Given the description of an element on the screen output the (x, y) to click on. 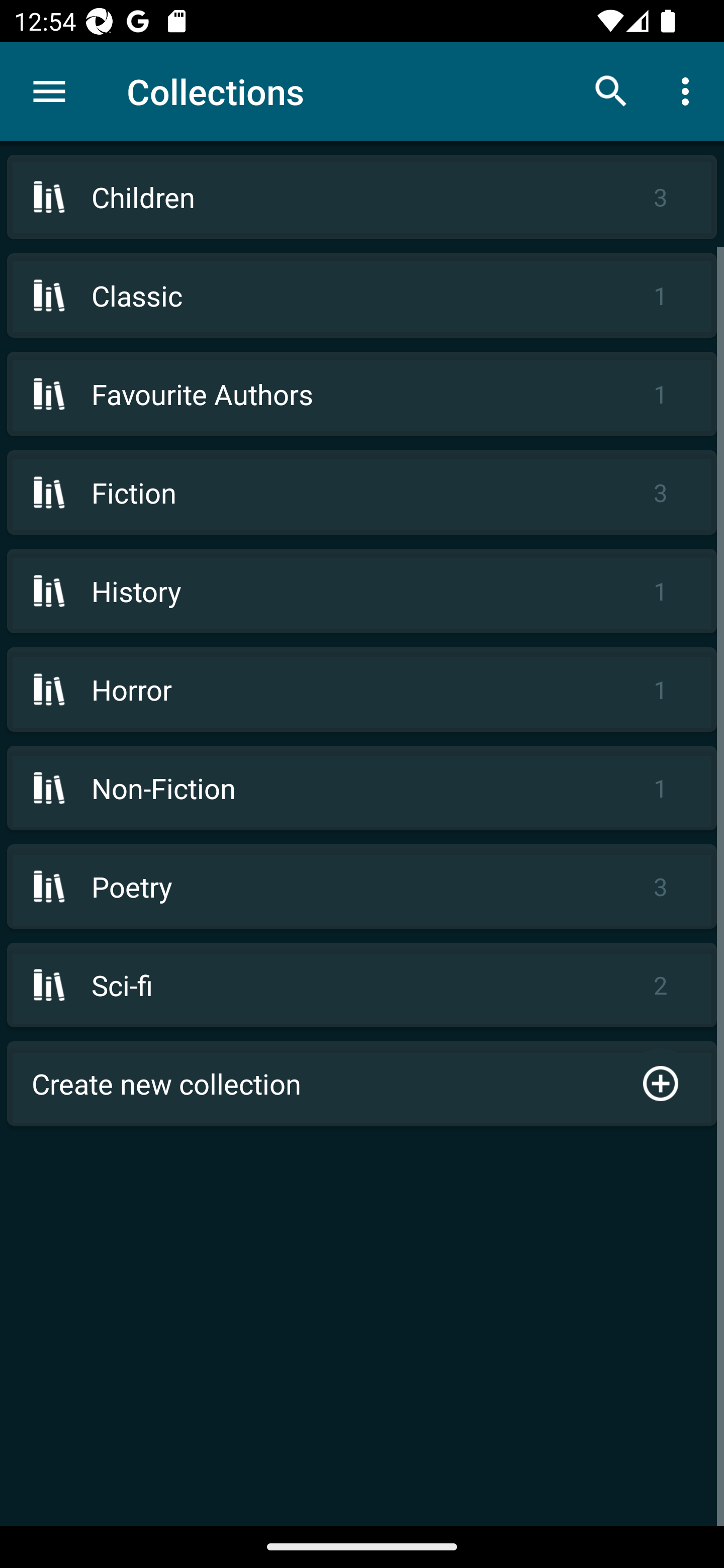
Menu (49, 91)
Search books & documents (611, 90)
More options (688, 90)
Children 3 (361, 197)
Classic 1 (361, 295)
Favourite Authors 1 (361, 393)
Fiction 3 (361, 492)
History 1 (361, 590)
Horror 1 (361, 689)
Non-Fiction 1 (361, 787)
Poetry 3 (361, 885)
Sci-fi 2 (361, 984)
Create new collection (361, 1083)
